Given the description of an element on the screen output the (x, y) to click on. 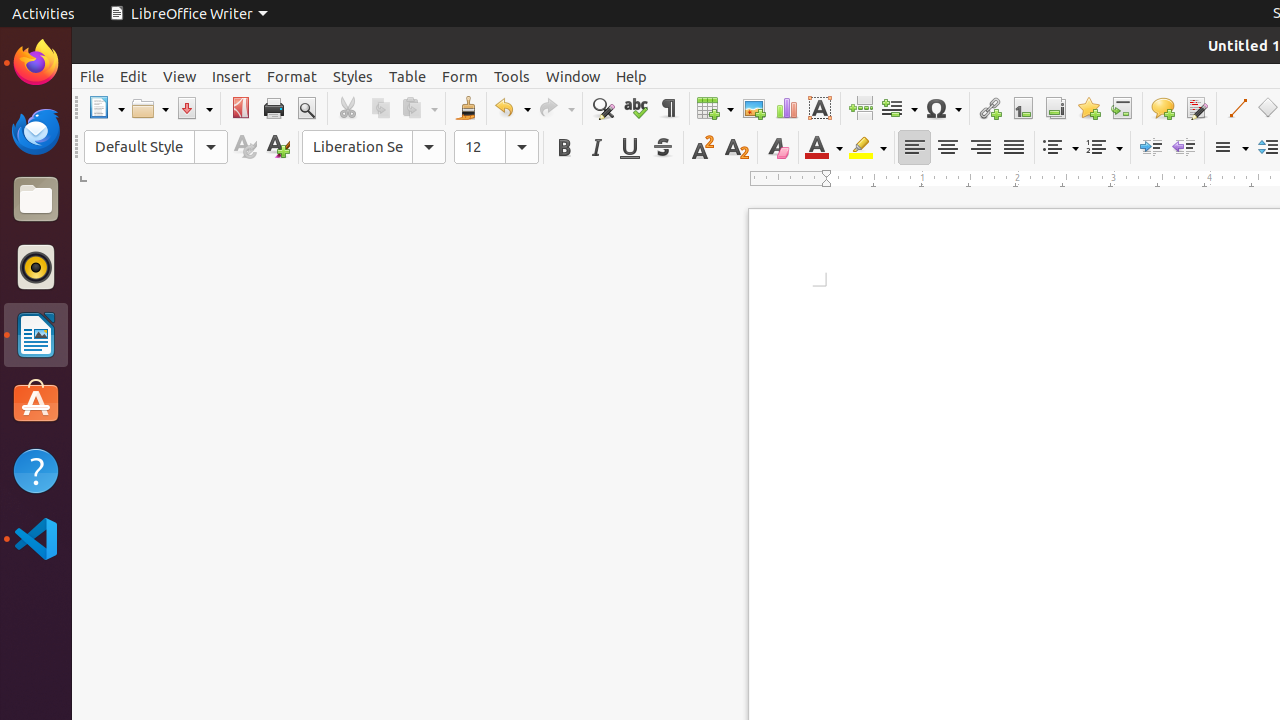
Undo Element type: push-button (512, 108)
Hyperlink Element type: toggle-button (989, 108)
Print Element type: push-button (273, 108)
Track Changes Functions Element type: toggle-button (1195, 108)
